Given the description of an element on the screen output the (x, y) to click on. 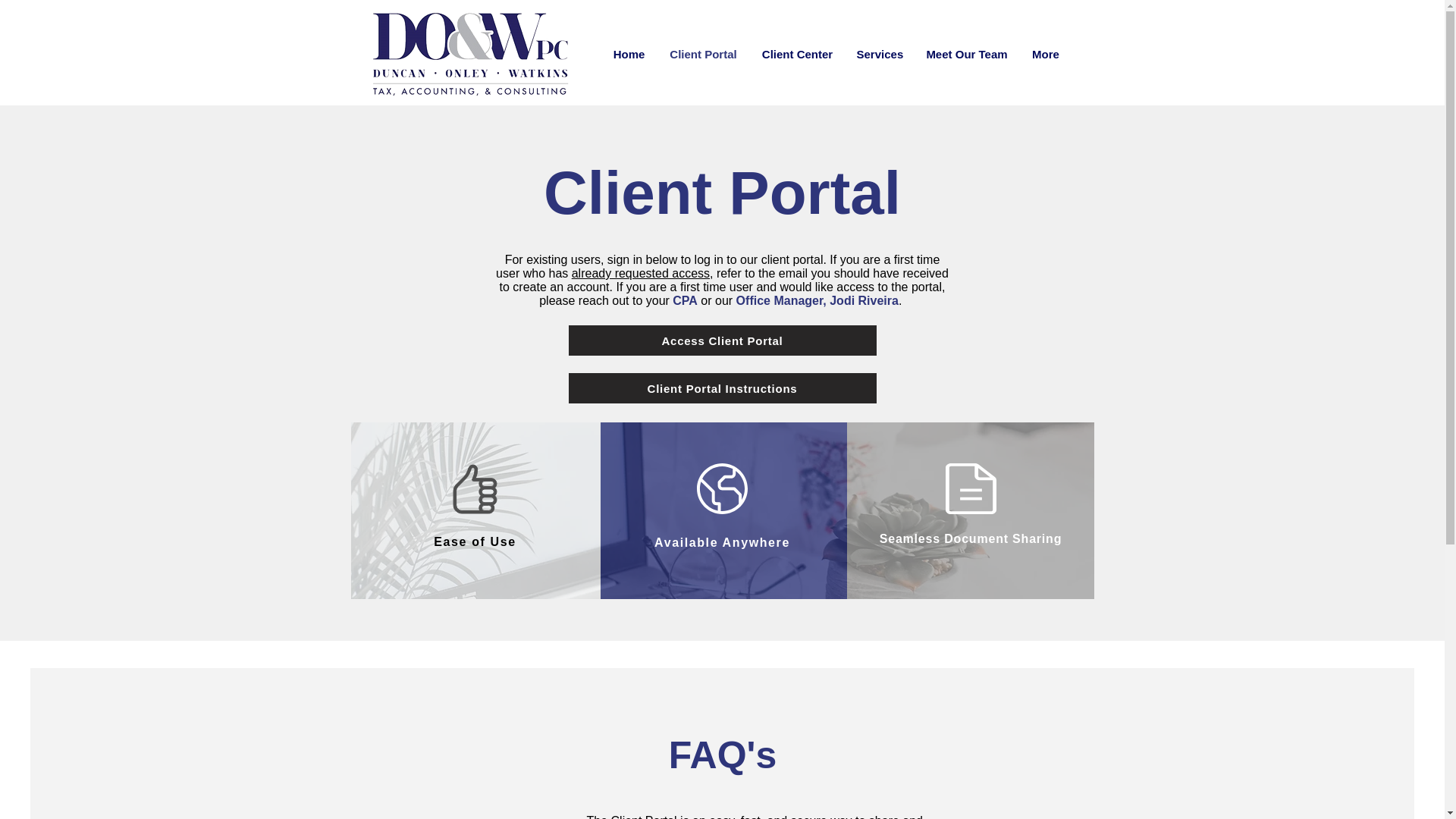
Access Client Portal (722, 340)
CPA (684, 300)
Services (878, 54)
Client Portal (702, 54)
Office Manager, Jodi Riveira (817, 300)
Client Center (796, 54)
Home (627, 54)
Meet Our Team (966, 54)
Client Portal Instructions (722, 388)
